Given the description of an element on the screen output the (x, y) to click on. 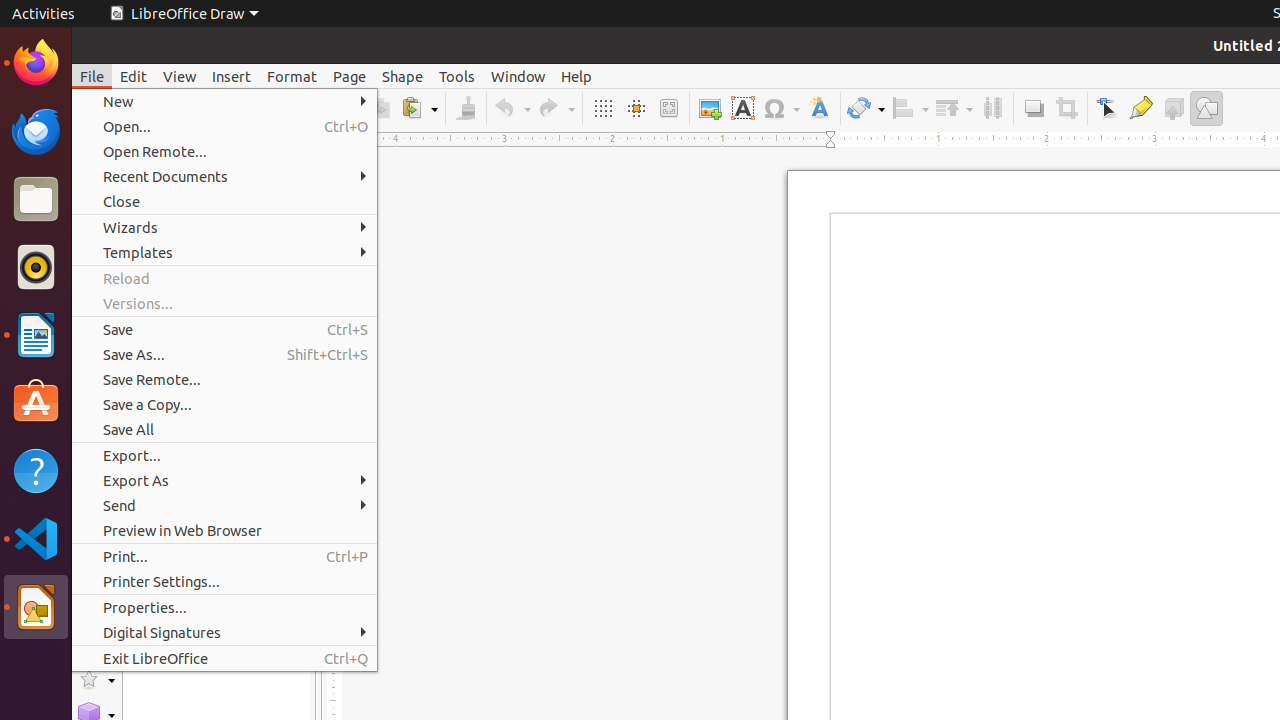
Wizards Element type: menu (224, 227)
Save a Copy... Element type: menu-item (224, 404)
Window Element type: menu (518, 76)
View Element type: menu (179, 76)
Printer Settings... Element type: menu-item (224, 581)
